Given the description of an element on the screen output the (x, y) to click on. 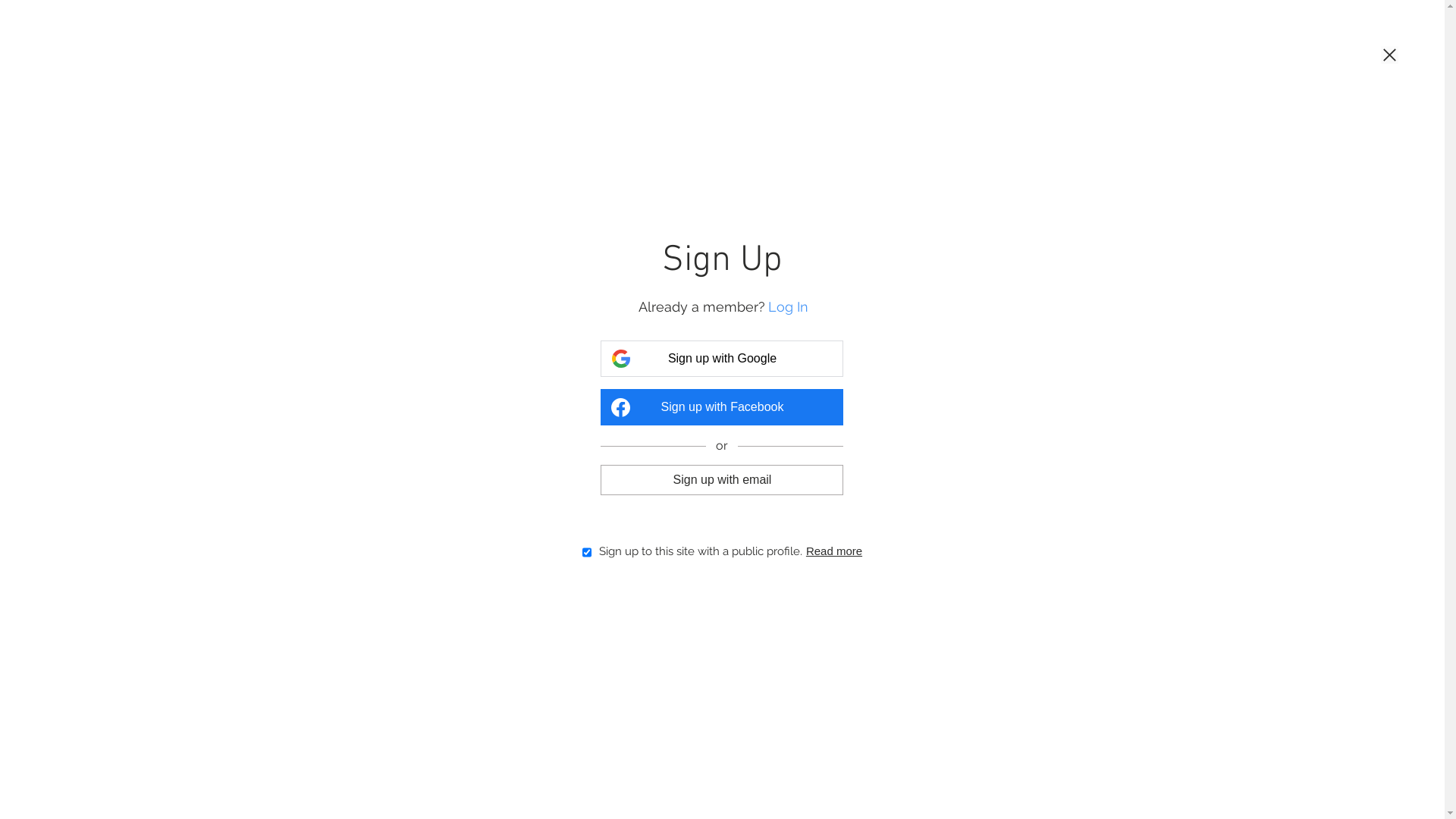
Read more Element type: text (834, 550)
Sign up with email Element type: text (721, 479)
Sign up with Google Element type: text (721, 358)
Sign up with Facebook Element type: text (721, 407)
Log In Element type: text (788, 306)
